Given the description of an element on the screen output the (x, y) to click on. 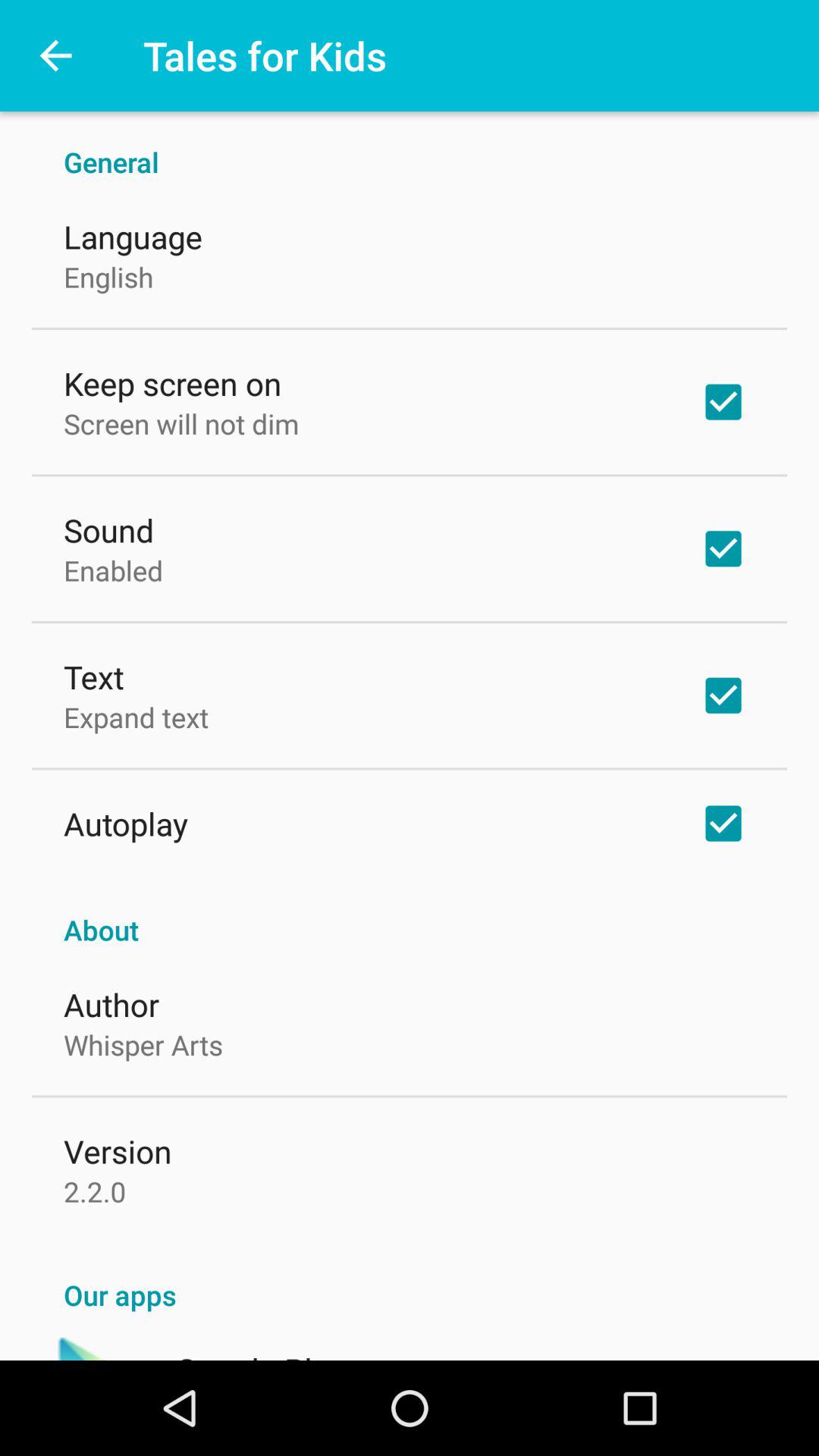
open icon next to the google play (88, 1348)
